Given the description of an element on the screen output the (x, y) to click on. 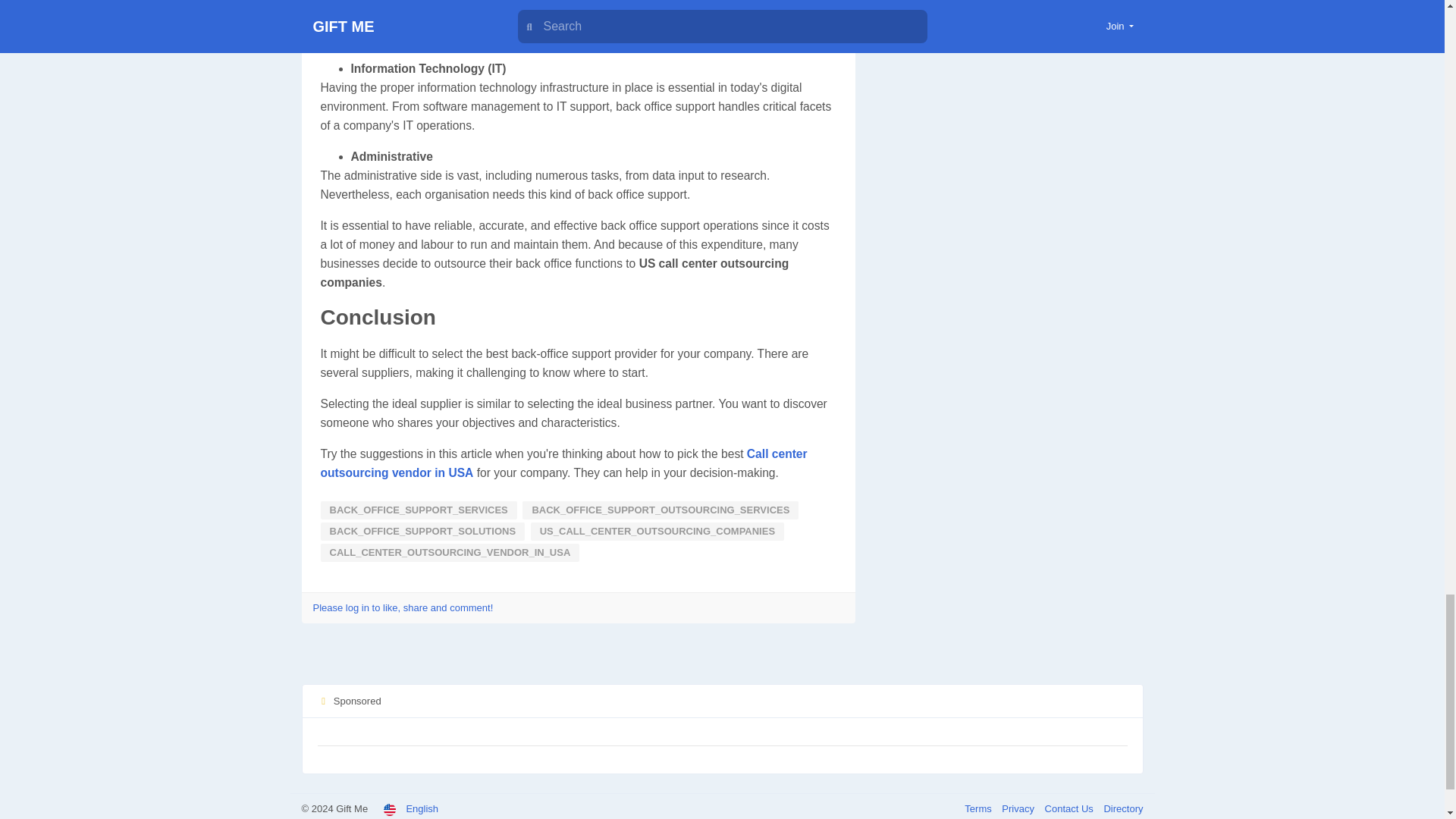
Call center outsourcing vendor in USA (563, 463)
Please log in to like, share and comment! (403, 607)
